Given the description of an element on the screen output the (x, y) to click on. 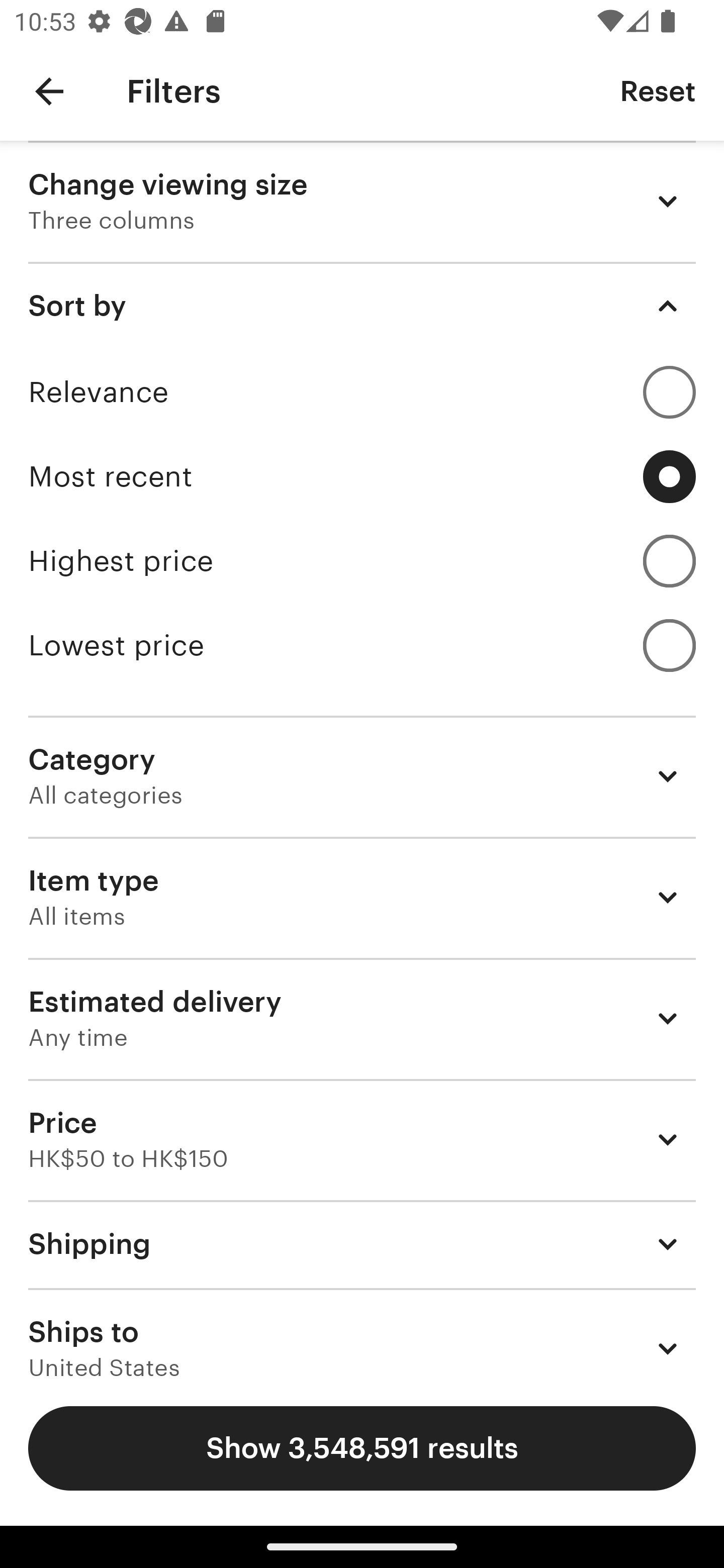
Navigate up (49, 91)
Reset (657, 90)
Change viewing size Three columns (362, 201)
Sort by (362, 305)
Relevance (362, 391)
Most recent (362, 476)
Highest price (362, 561)
Lowest price (362, 644)
Category All categories (362, 776)
Item type All items (362, 897)
Estimated delivery Any time (362, 1018)
Price HK$50 to HK$150 (362, 1138)
Shipping (362, 1243)
Ships to United States (362, 1332)
Show 3,548,591 results Show 3,548,579 results (361, 1448)
